Given the description of an element on the screen output the (x, y) to click on. 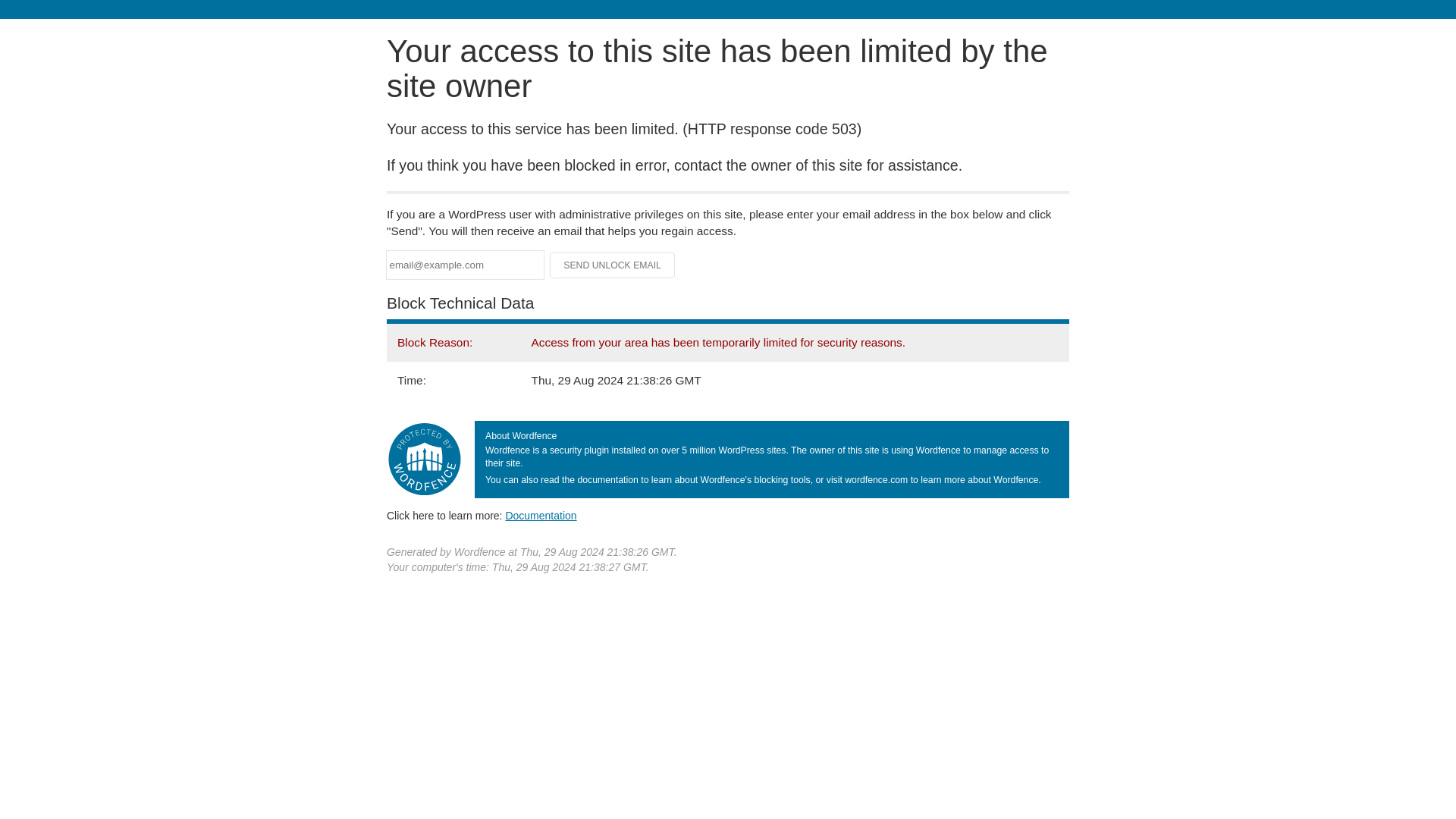
Send Unlock Email (612, 265)
Send Unlock Email (612, 265)
Documentation (540, 515)
